Given the description of an element on the screen output the (x, y) to click on. 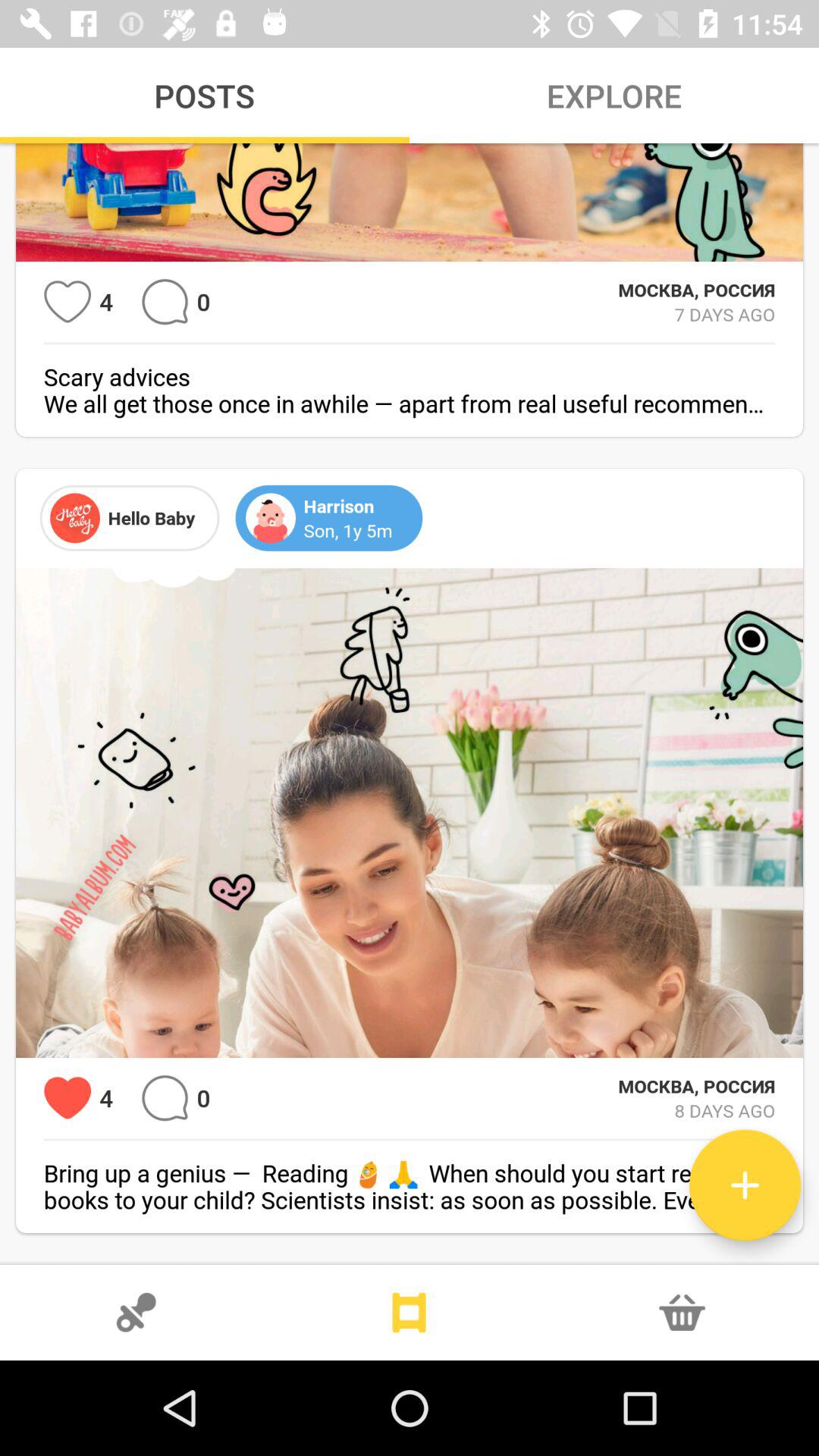
create post (744, 1185)
